Given the description of an element on the screen output the (x, y) to click on. 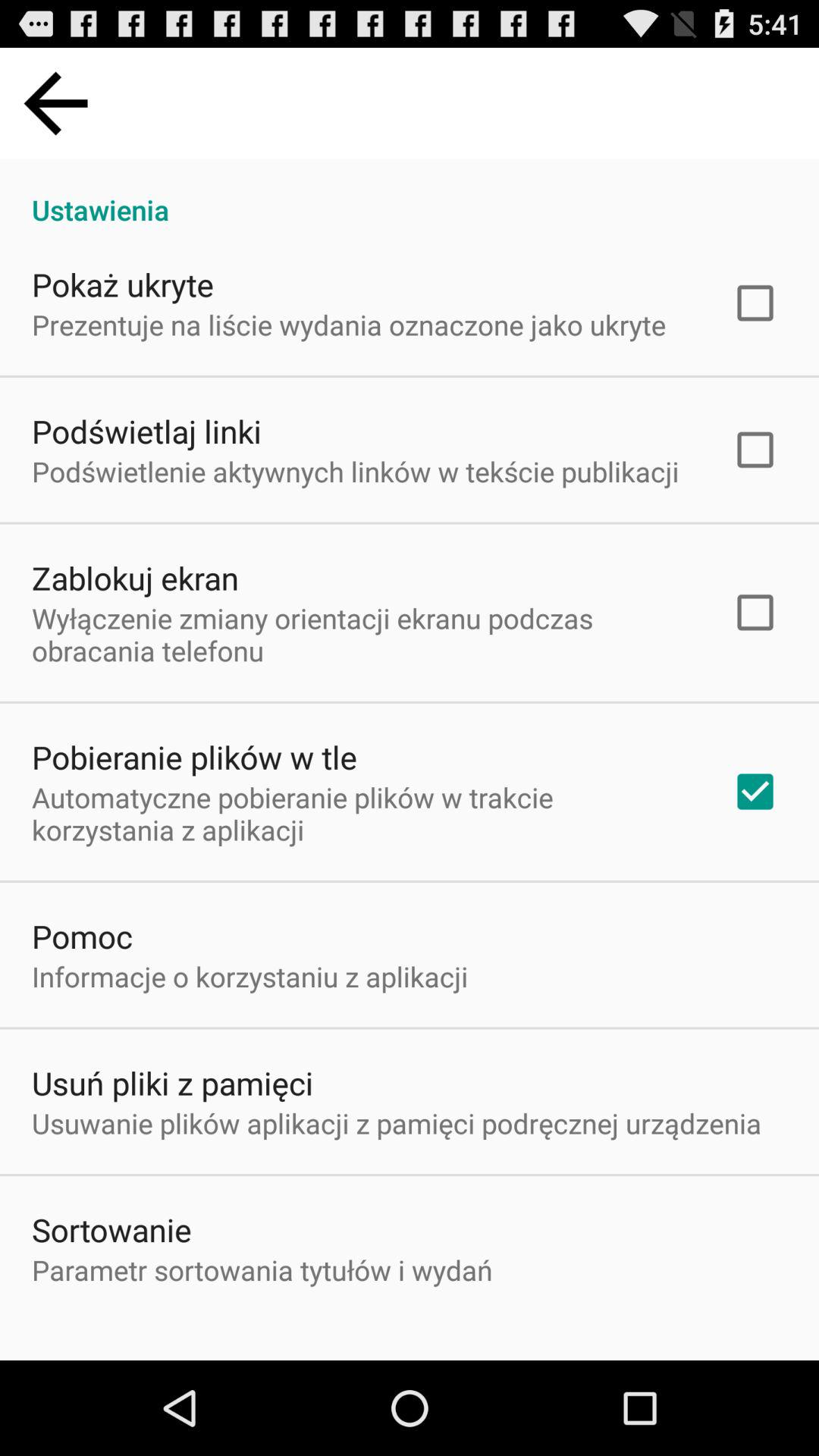
tap ustawienia item (409, 193)
